Given the description of an element on the screen output the (x, y) to click on. 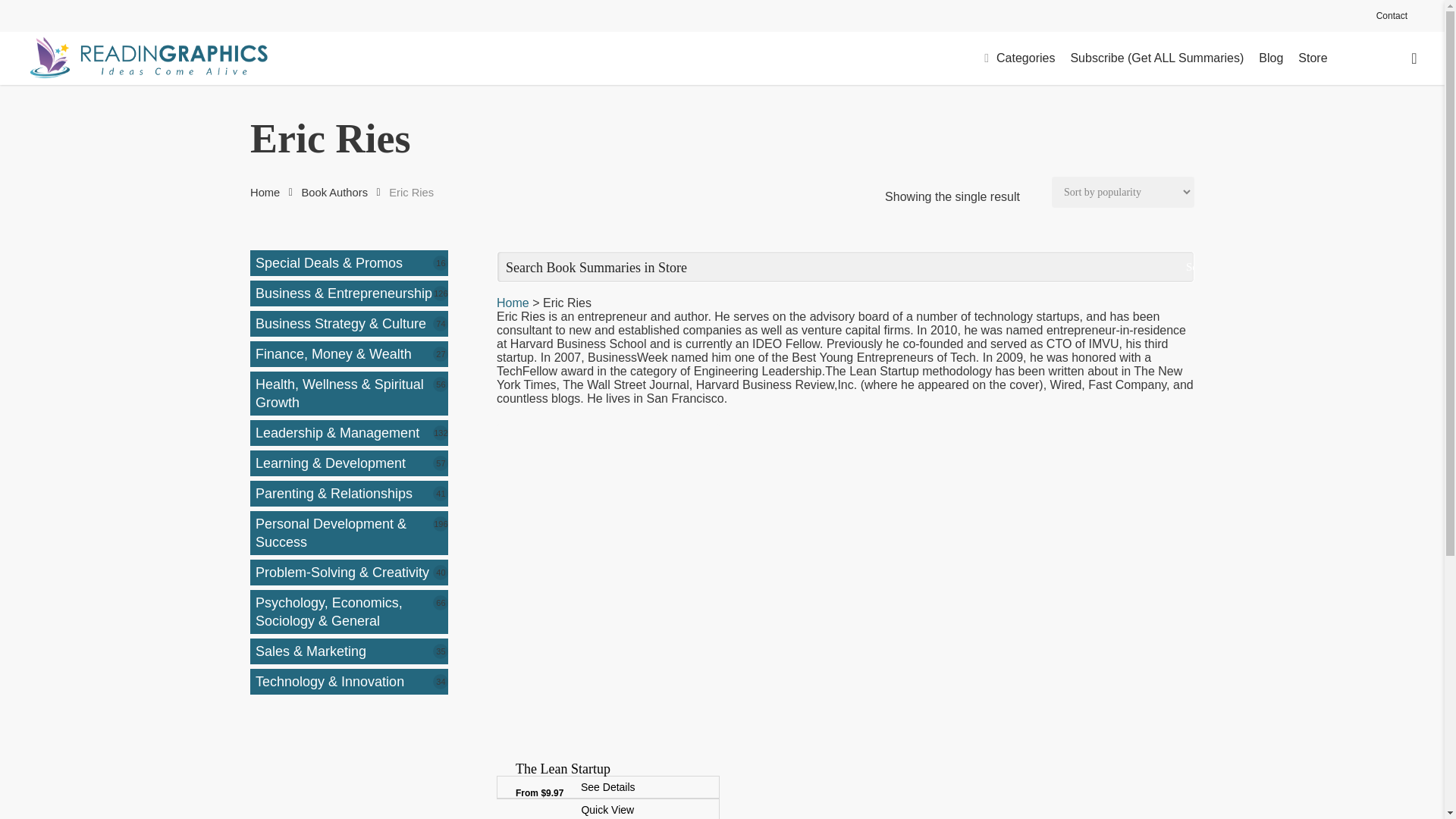
Contact (1391, 15)
account (1414, 57)
Home (264, 192)
Categories (1019, 58)
Store (1312, 58)
Blog (1270, 58)
